Given the description of an element on the screen output the (x, y) to click on. 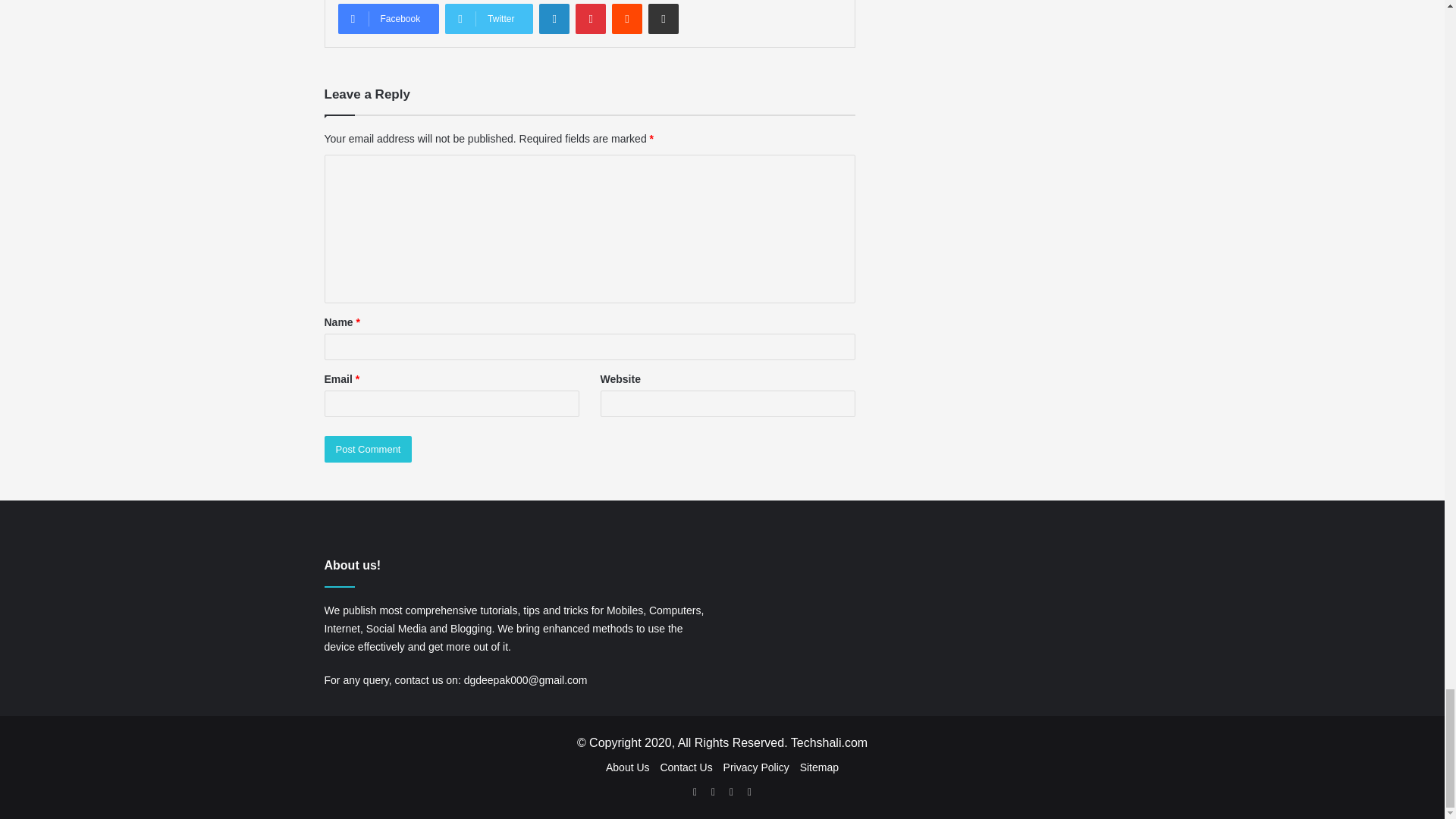
Share via Email (662, 19)
Twitter (488, 19)
Facebook (388, 19)
Reddit (626, 19)
Facebook (388, 19)
LinkedIn (553, 19)
Twitter (488, 19)
Post Comment (368, 448)
Pinterest (590, 19)
Pinterest (590, 19)
